Given the description of an element on the screen output the (x, y) to click on. 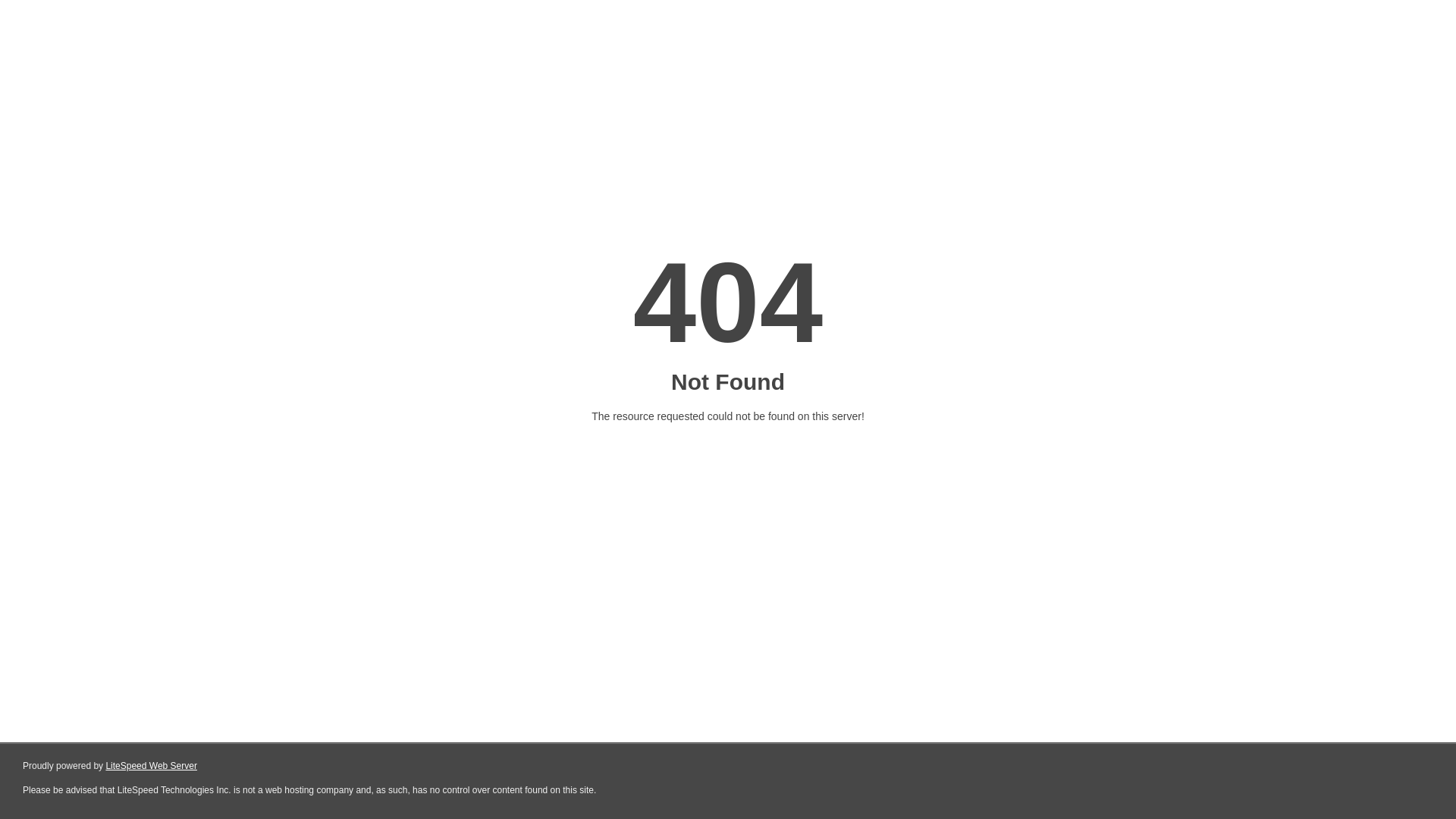
LiteSpeed Web Server Element type: text (151, 765)
